Given the description of an element on the screen output the (x, y) to click on. 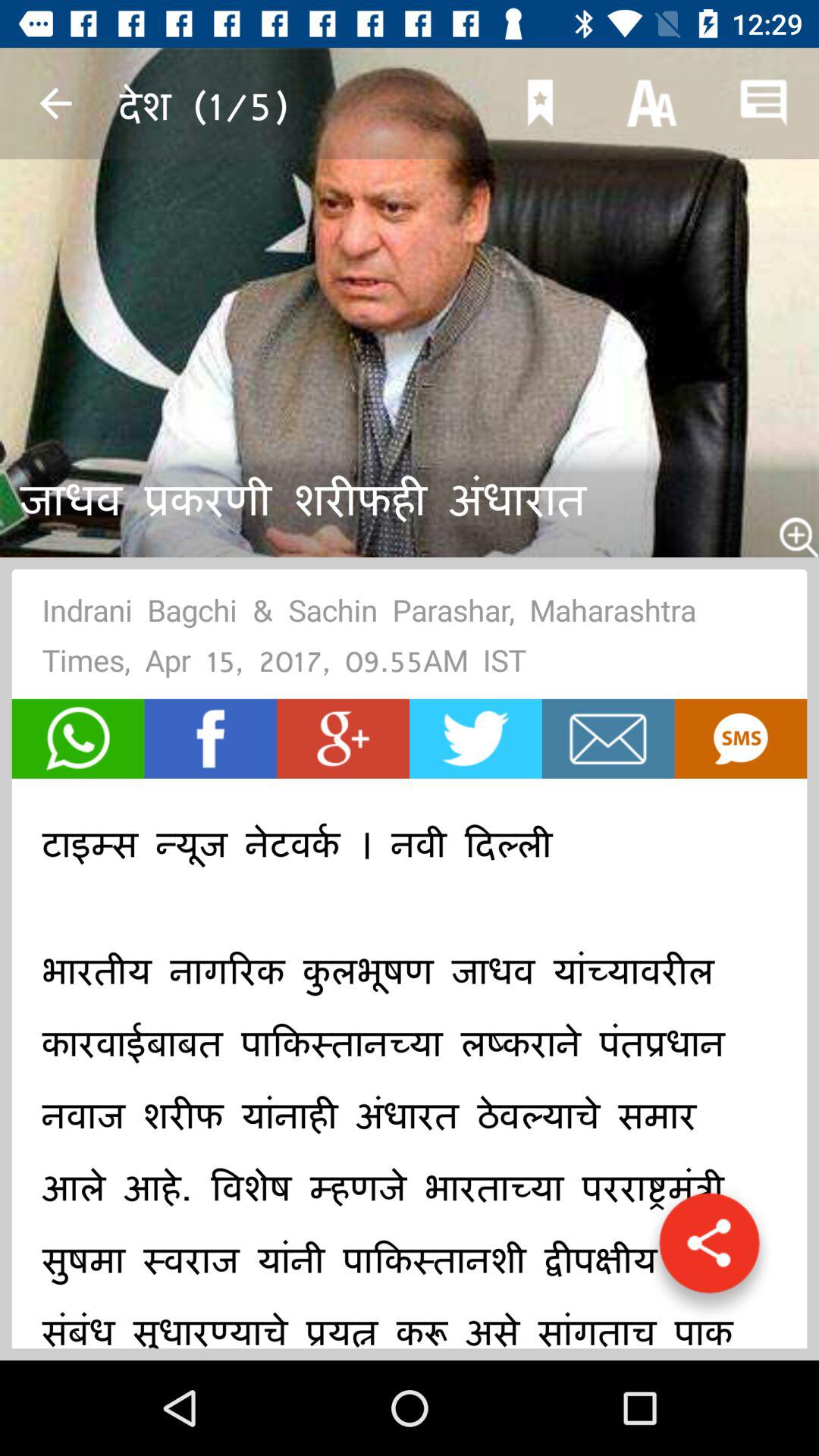
tap the item below indrani bagchi sachin (740, 738)
